Given the description of an element on the screen output the (x, y) to click on. 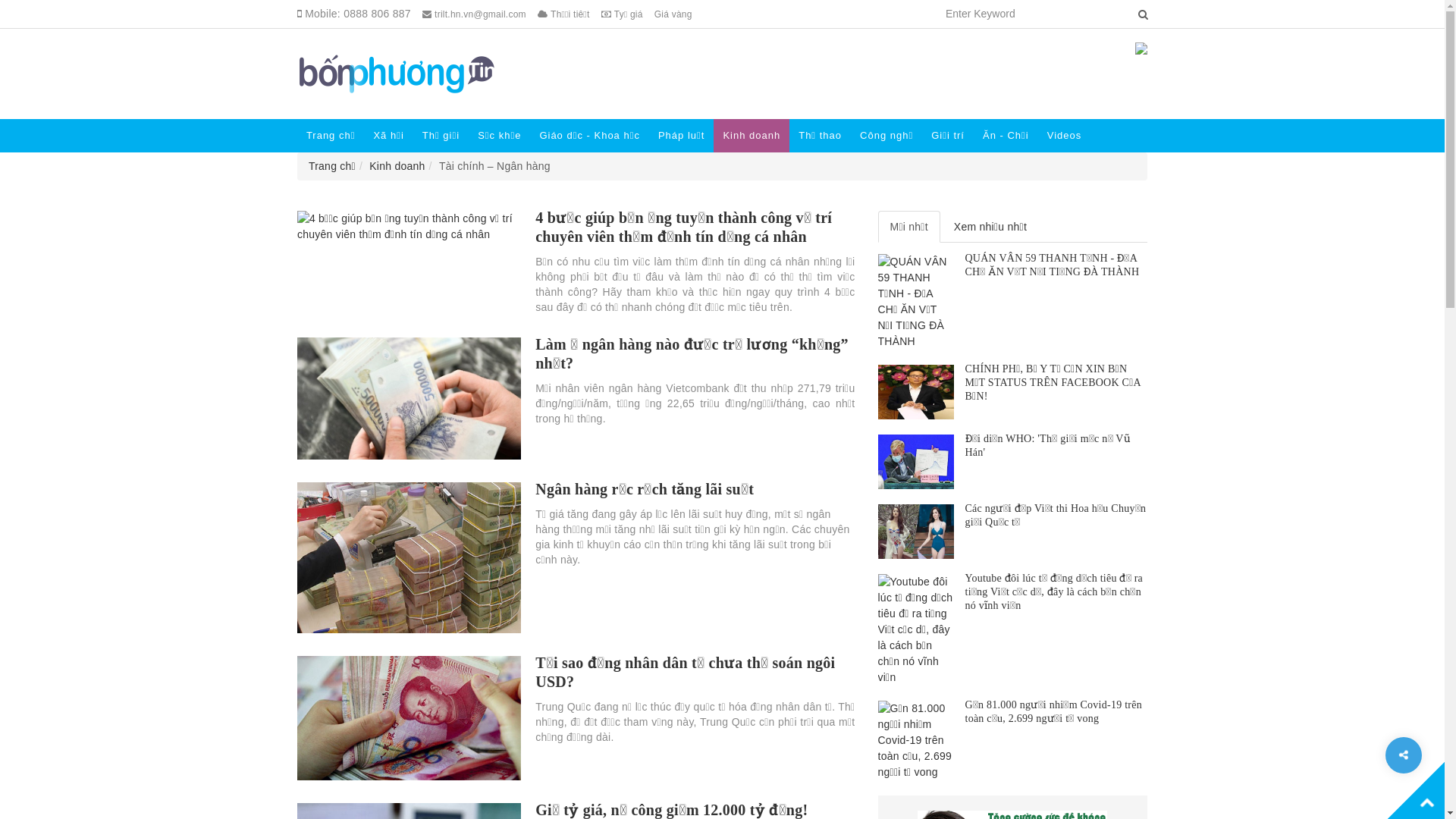
Kinh doanh Element type: text (751, 135)
Videos Element type: text (1064, 135)
trilt.hn.vn@gmail.com Element type: text (474, 14)
Kinh doanh Element type: text (396, 166)
